Given the description of an element on the screen output the (x, y) to click on. 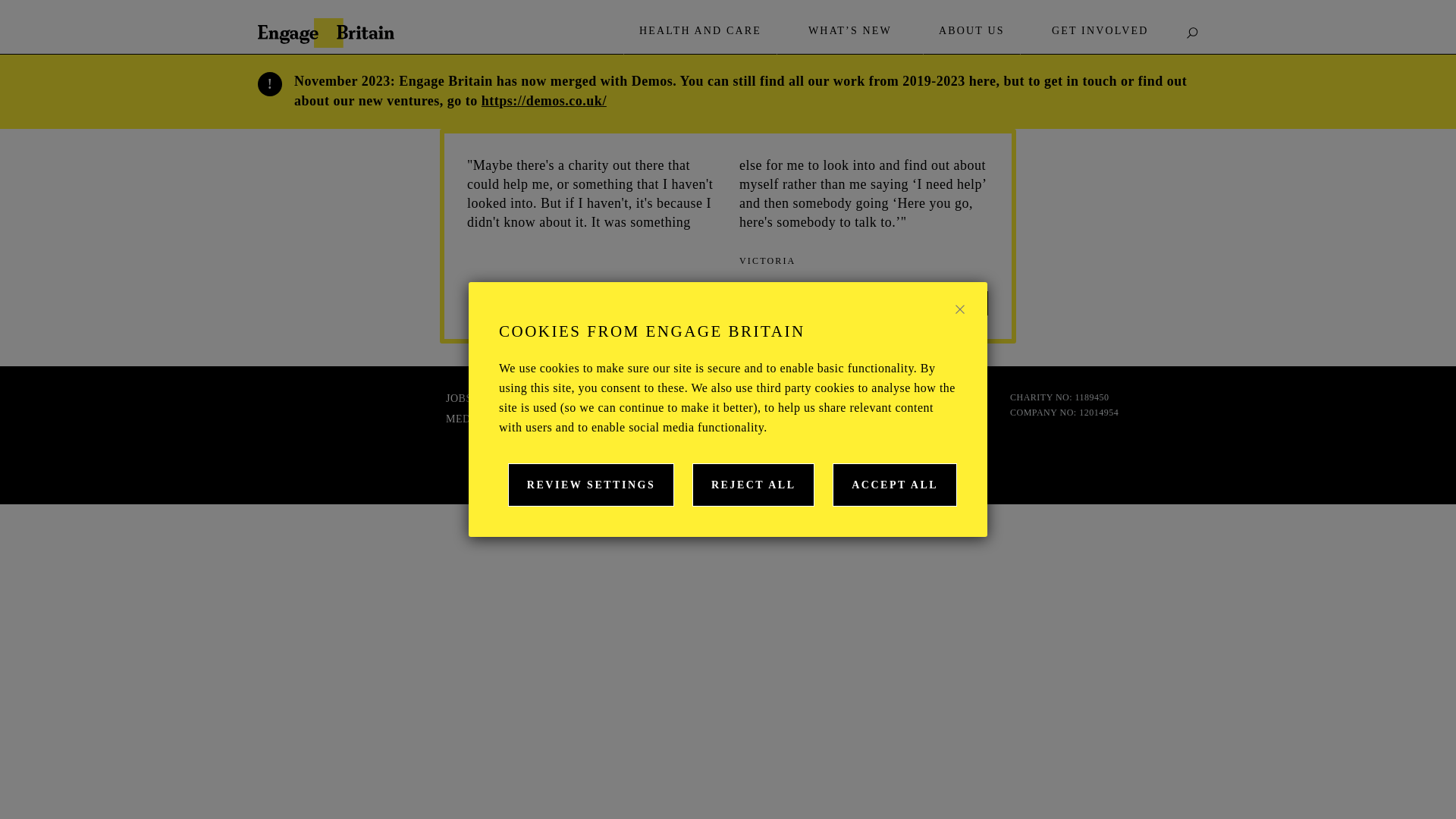
CONTACT (848, 419)
PRIVACY POLICY (867, 398)
YOUTUBE (670, 468)
TWITTER (668, 422)
INSTAGRAM (676, 445)
SEARCH (1192, 32)
Engage Britain (325, 32)
JOBS (458, 398)
GET INVOLVED (1099, 30)
ABOUT US (971, 30)
HEALTH AND CARE (700, 30)
FACEBOOK (673, 398)
MEDIA (463, 419)
